Given the description of an element on the screen output the (x, y) to click on. 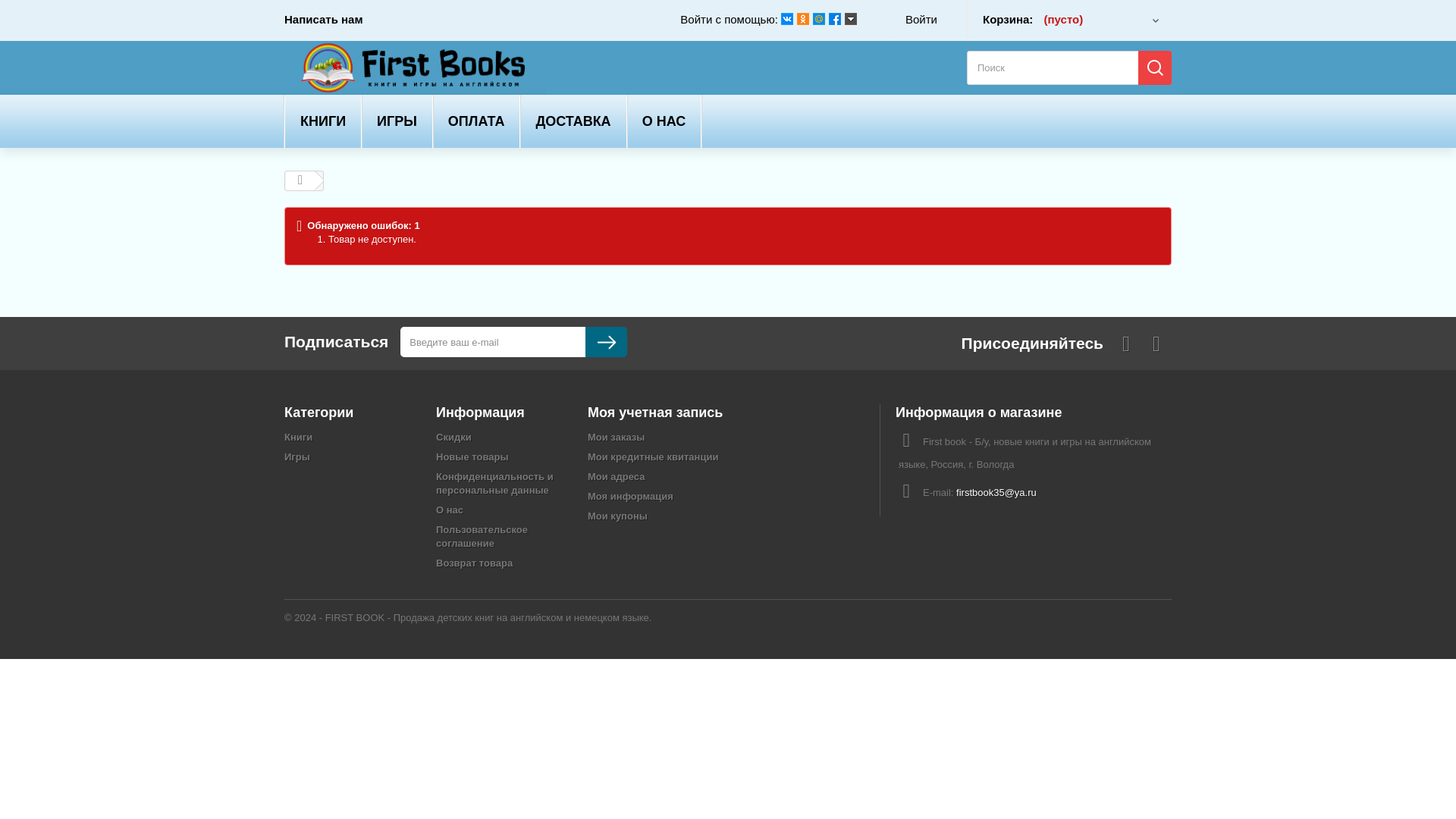
Facebook (834, 19)
Mail.ru (818, 19)
VK (786, 19)
Odnoklassniki (802, 19)
